Given the description of an element on the screen output the (x, y) to click on. 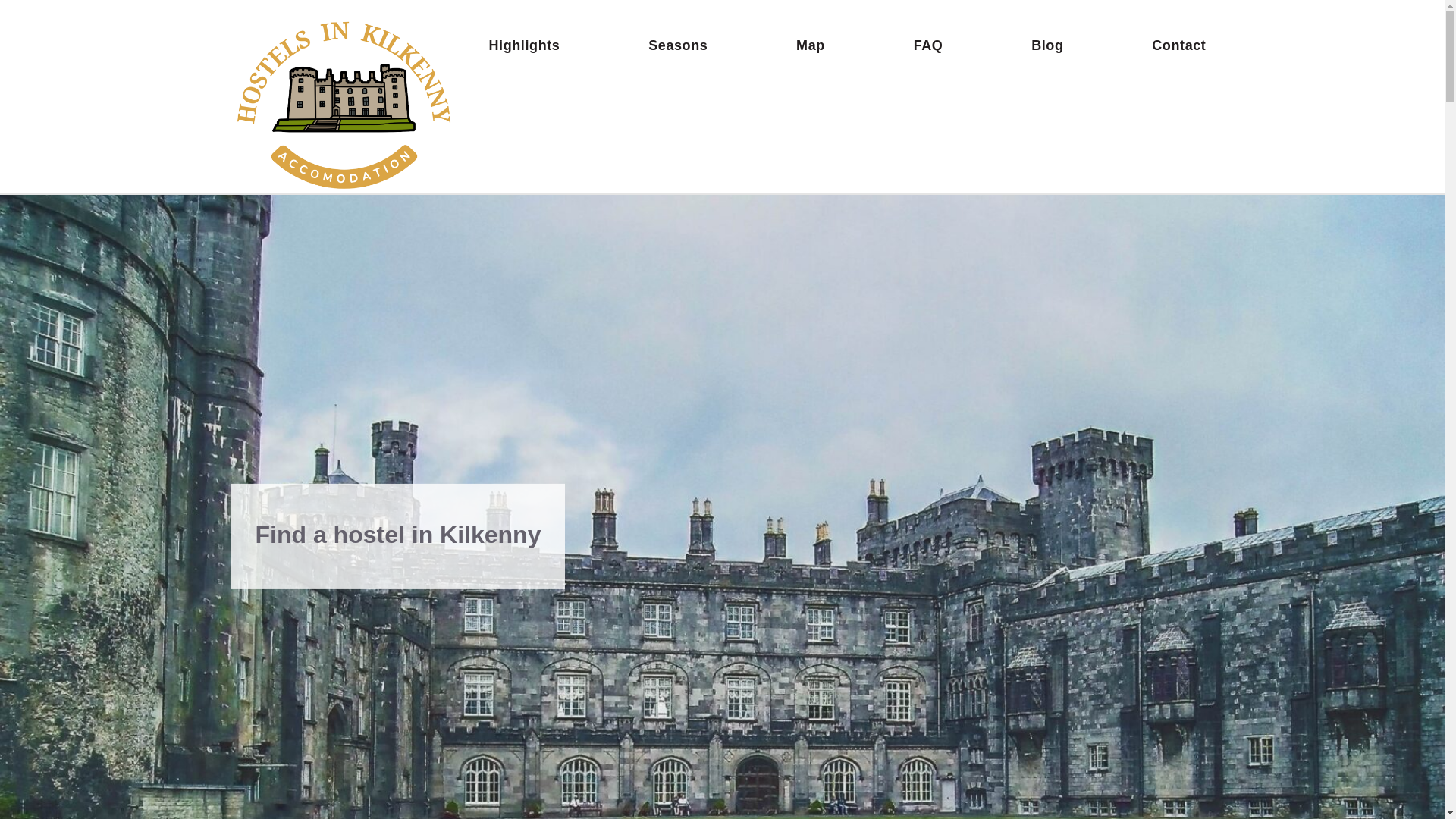
Contact (1178, 45)
Hostels Kilkenny (346, 102)
Seasons (677, 45)
Map (810, 45)
Blog (1046, 45)
Highlights (523, 45)
FAQ (927, 45)
